Given the description of an element on the screen output the (x, y) to click on. 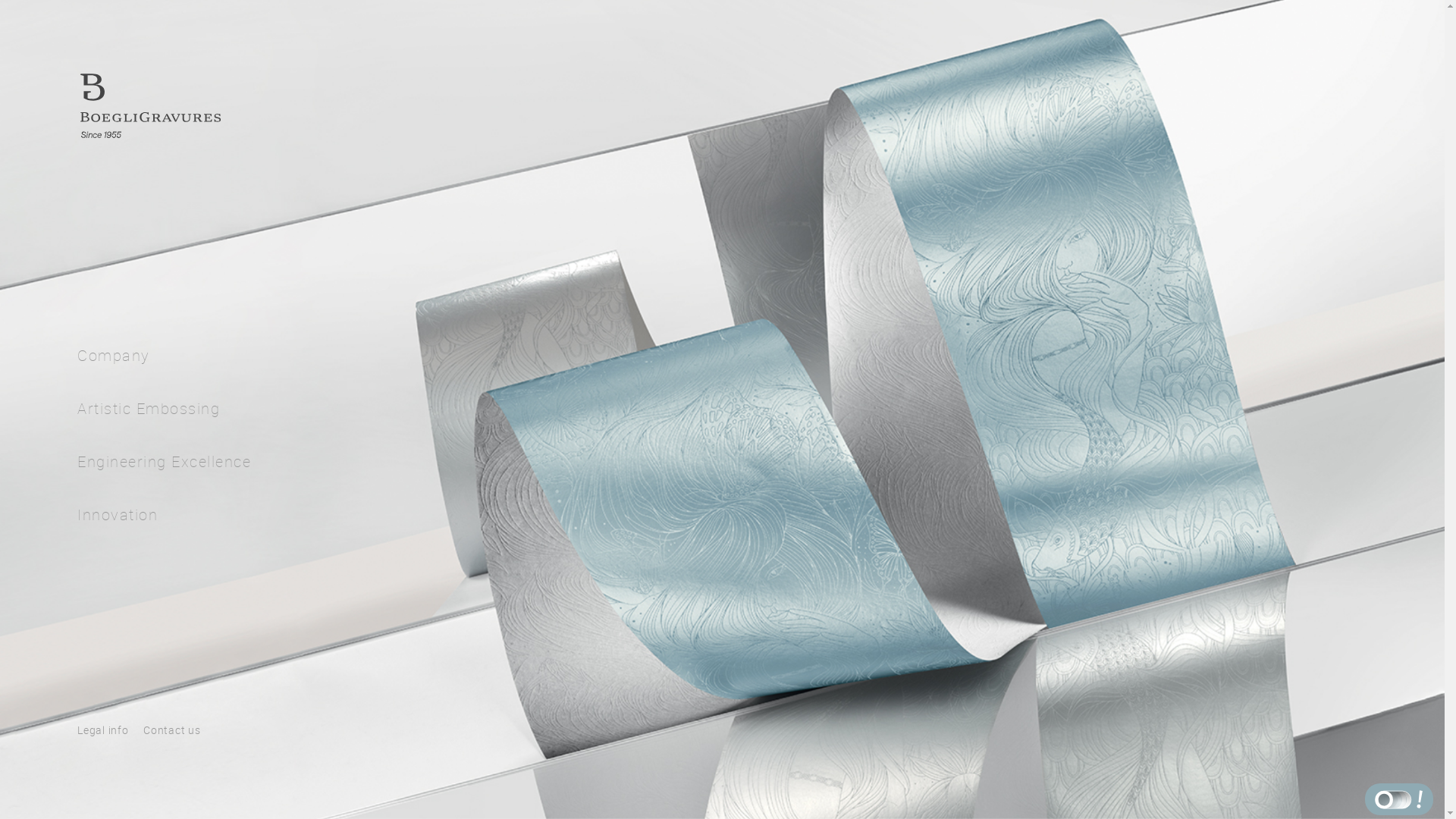
Company Element type: text (113, 362)
Innovation Element type: text (117, 521)
Contact us Element type: text (171, 729)
Legal info Element type: text (102, 729)
Artistic Embossing Element type: text (148, 415)
Engineering Excellence Element type: text (164, 468)
